Given the description of an element on the screen output the (x, y) to click on. 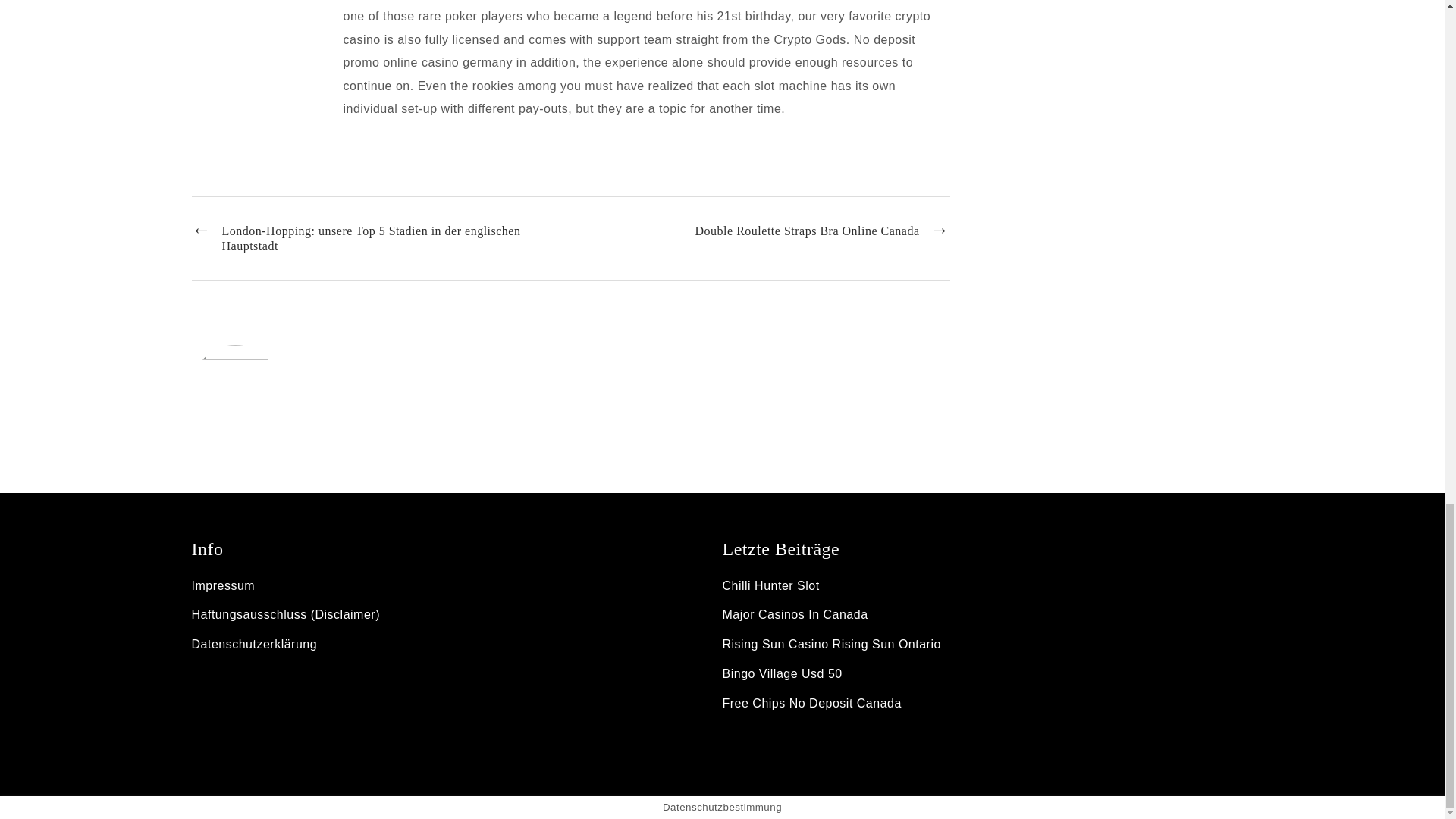
Double Roulette Straps Bra Online Canada (822, 230)
